Given the description of an element on the screen output the (x, y) to click on. 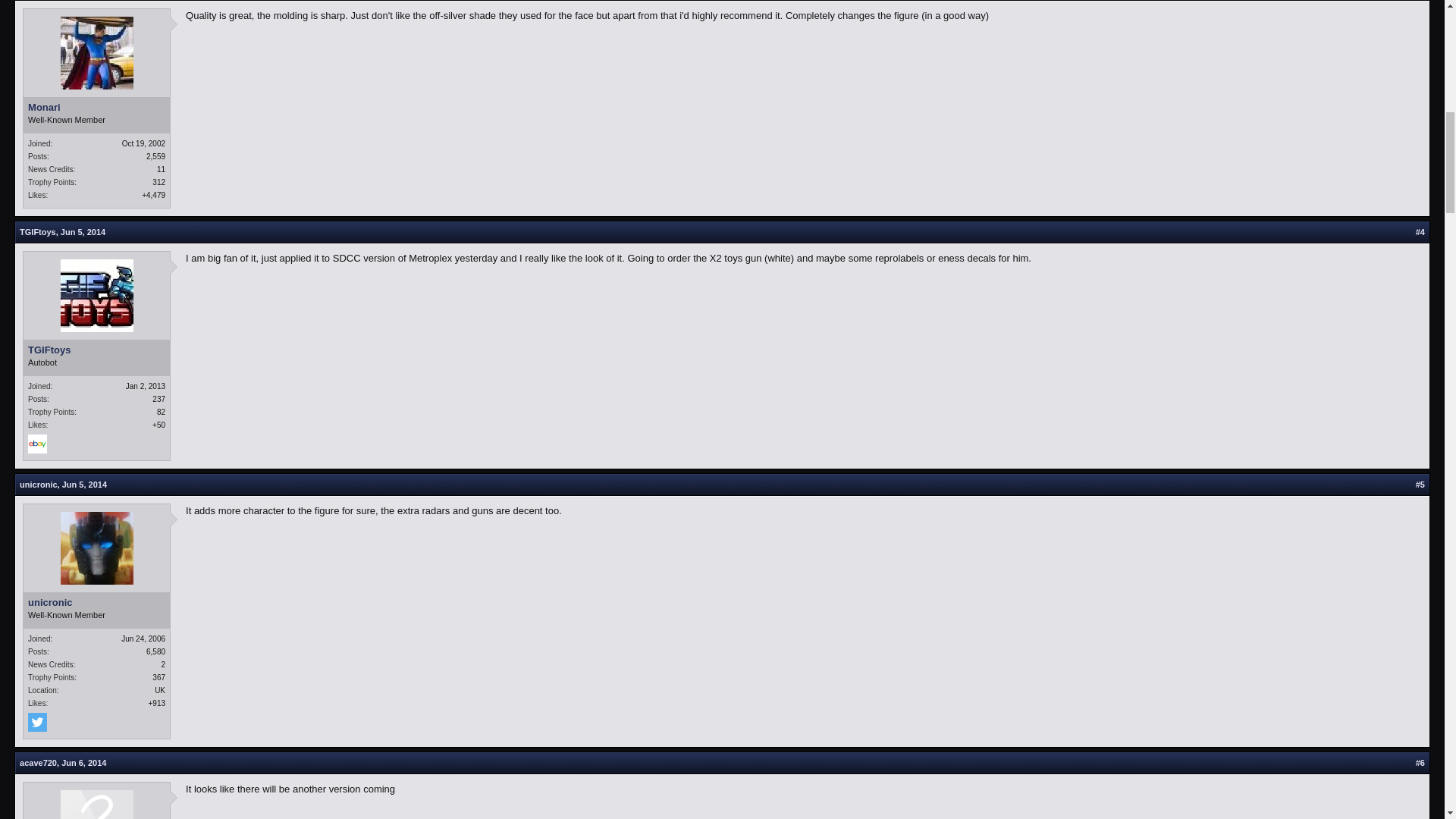
Permalink (84, 483)
2,559 (156, 156)
Permalink (83, 762)
TGIFtoys (38, 231)
312 (158, 182)
Monari (96, 107)
Permalink (82, 231)
